Given the description of an element on the screen output the (x, y) to click on. 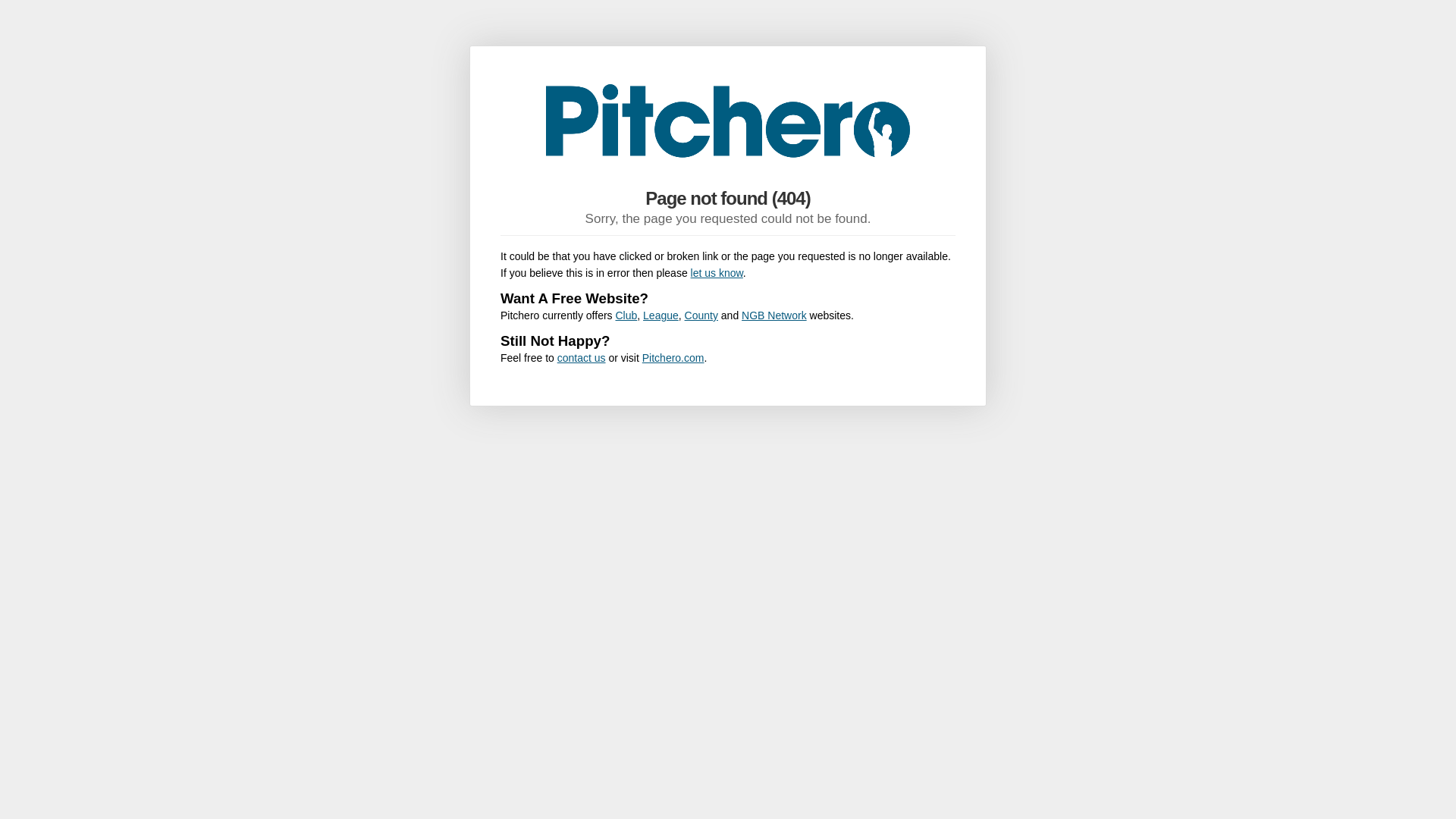
Club (625, 315)
let us know (716, 272)
NGB Network (773, 315)
County (700, 315)
League (660, 315)
